Given the description of an element on the screen output the (x, y) to click on. 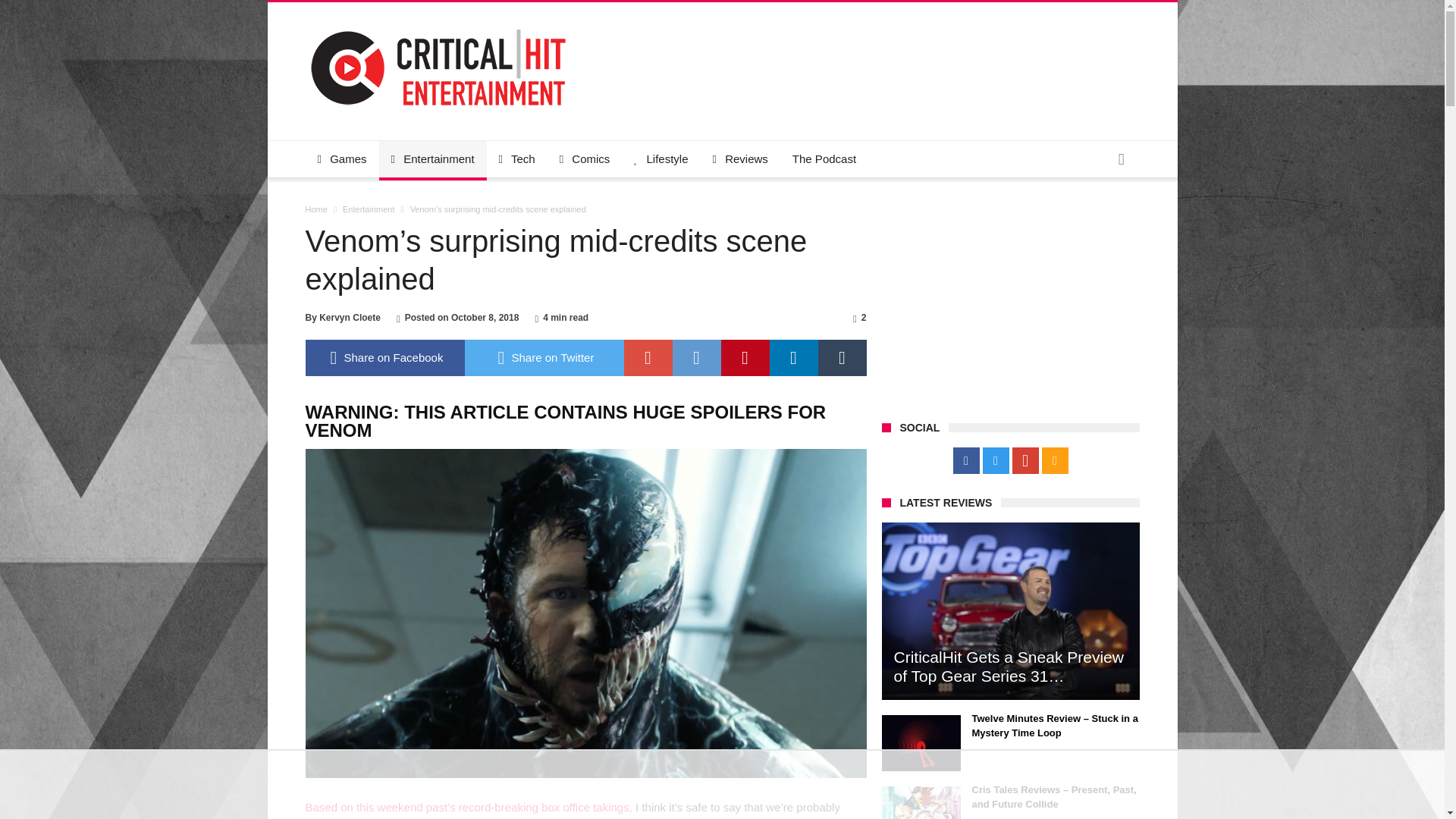
Share on Pinterest (744, 357)
google (647, 357)
Share on Tumblr (841, 357)
twitter (543, 357)
Entertainment (368, 208)
Games (341, 158)
Reviews (740, 158)
Entertainment (432, 158)
tumblr (841, 357)
Critical Hit (437, 24)
Share on Facebook (384, 357)
The Podcast (823, 158)
Share on Reddit (695, 357)
Kervyn Cloete (349, 317)
reddit (695, 357)
